Given the description of an element on the screen output the (x, y) to click on. 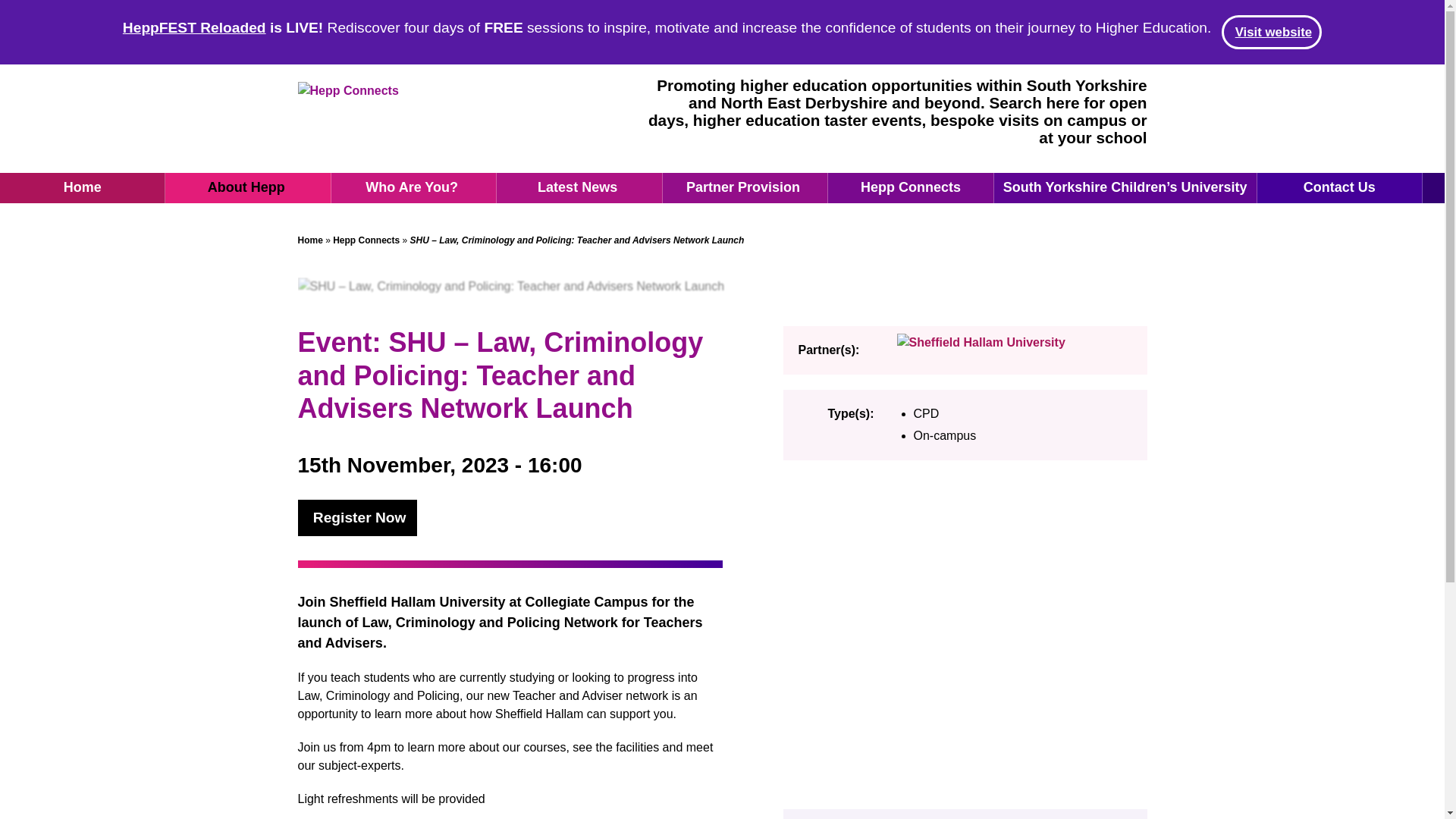
Latest News  (579, 187)
Who Are You?  (413, 187)
About Hepp  (247, 187)
Partner Provision  (745, 187)
Home (82, 187)
Hepp Connects (910, 187)
